Given the description of an element on the screen output the (x, y) to click on. 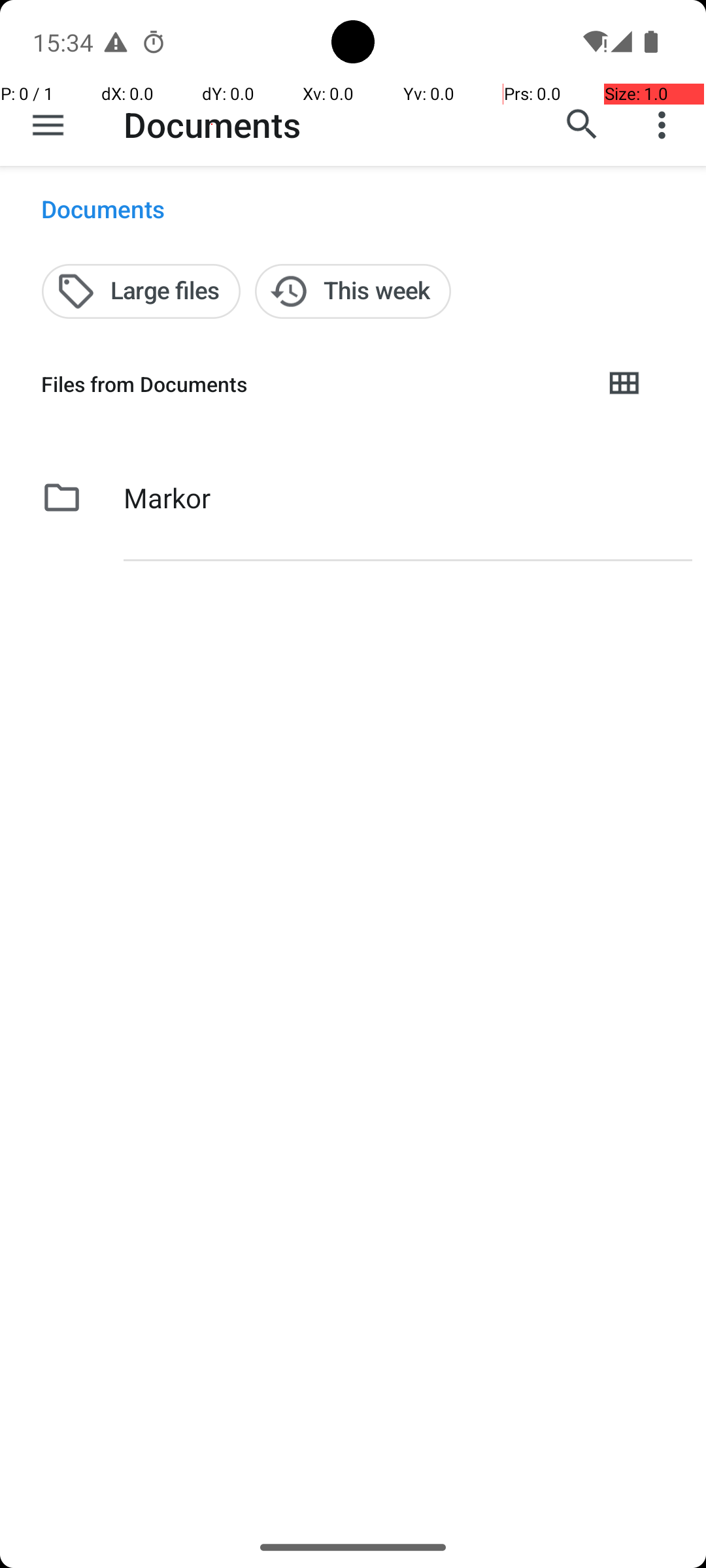
Files from Documents Element type: android.widget.TextView (311, 383)
